Given the description of an element on the screen output the (x, y) to click on. 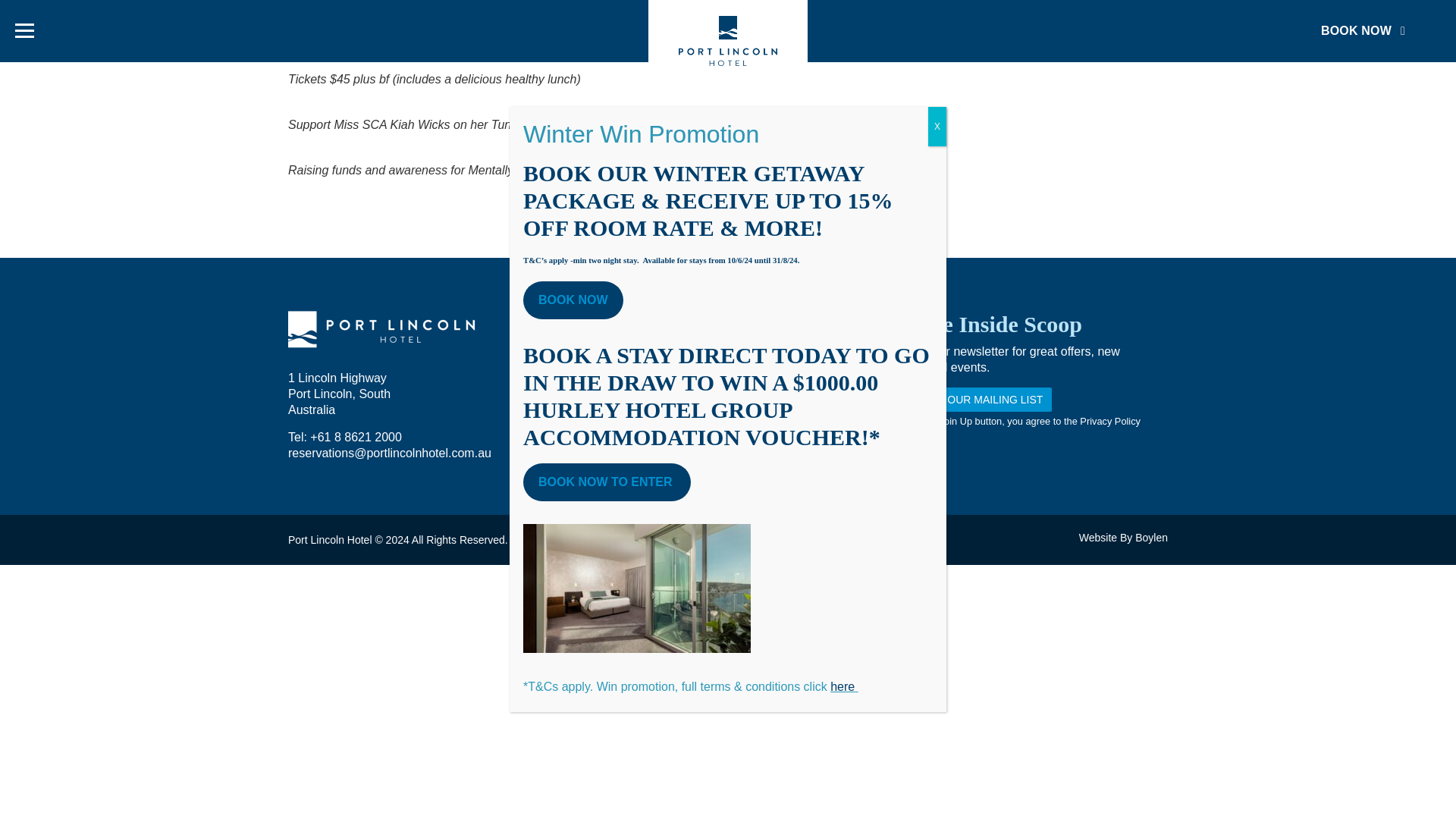
Facebook (698, 385)
Twitter (738, 385)
BOOK NOW (1363, 31)
Trip Advisor (756, 385)
Instagram (717, 385)
